Given the description of an element on the screen output the (x, y) to click on. 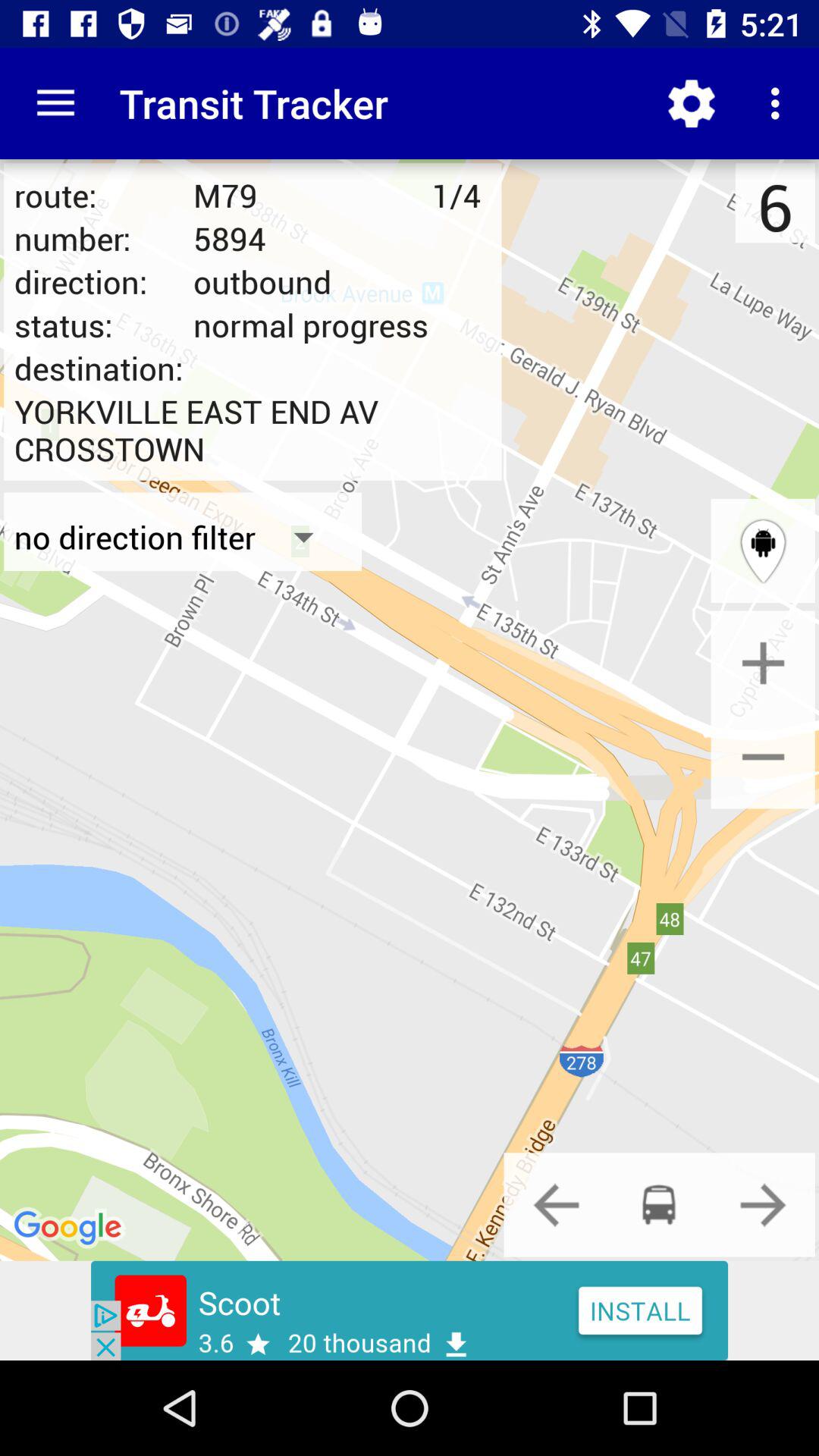
advertisement click (409, 1310)
